Given the description of an element on the screen output the (x, y) to click on. 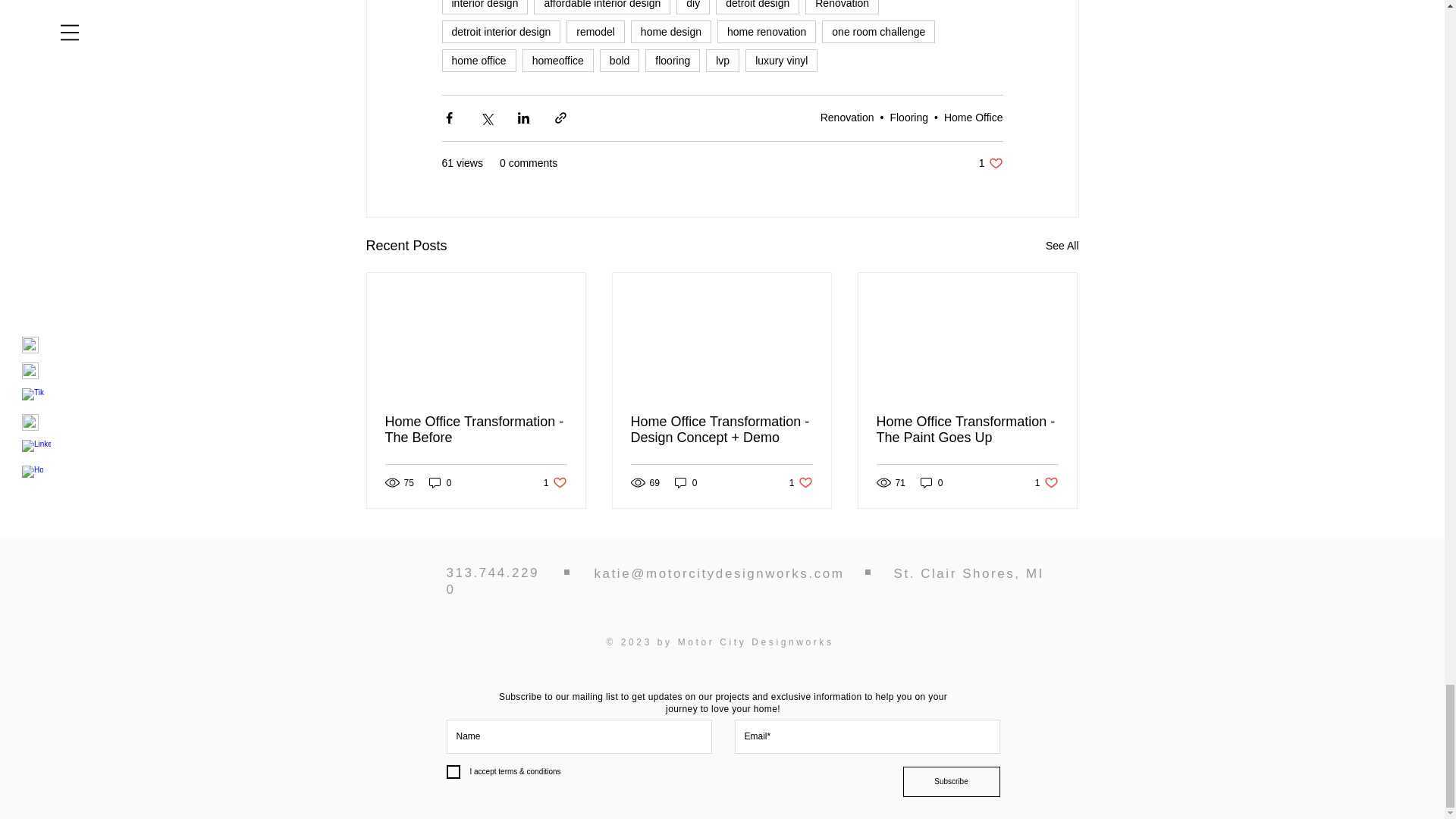
home renovation (766, 31)
interior design (484, 7)
diy (693, 7)
affordable interior design (601, 7)
detroit interior design (500, 31)
home design (670, 31)
one room challenge (878, 31)
home office (478, 60)
Renovation (842, 7)
detroit design (757, 7)
